Given the description of an element on the screen output the (x, y) to click on. 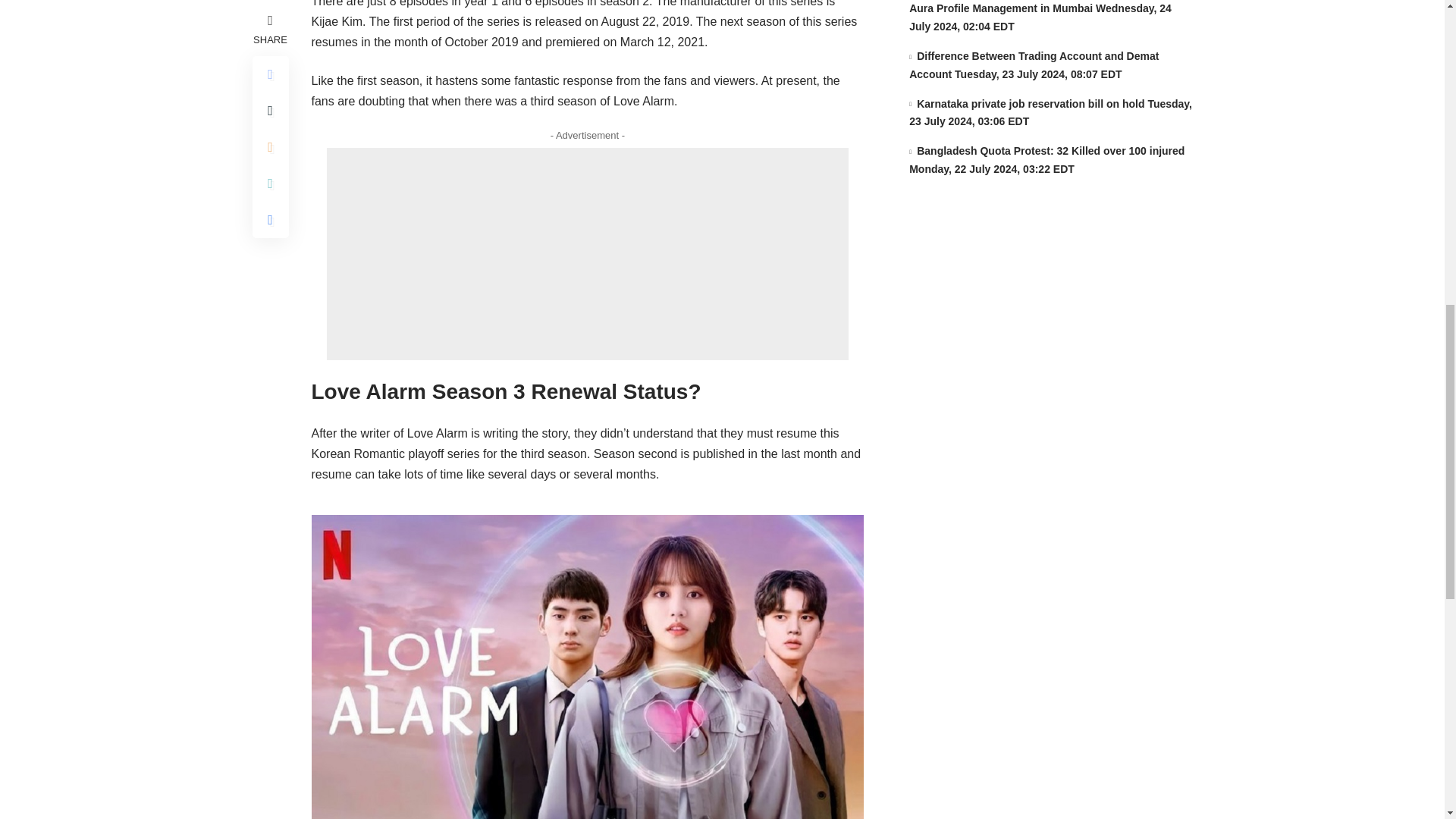
Advertisement (587, 254)
